Given the description of an element on the screen output the (x, y) to click on. 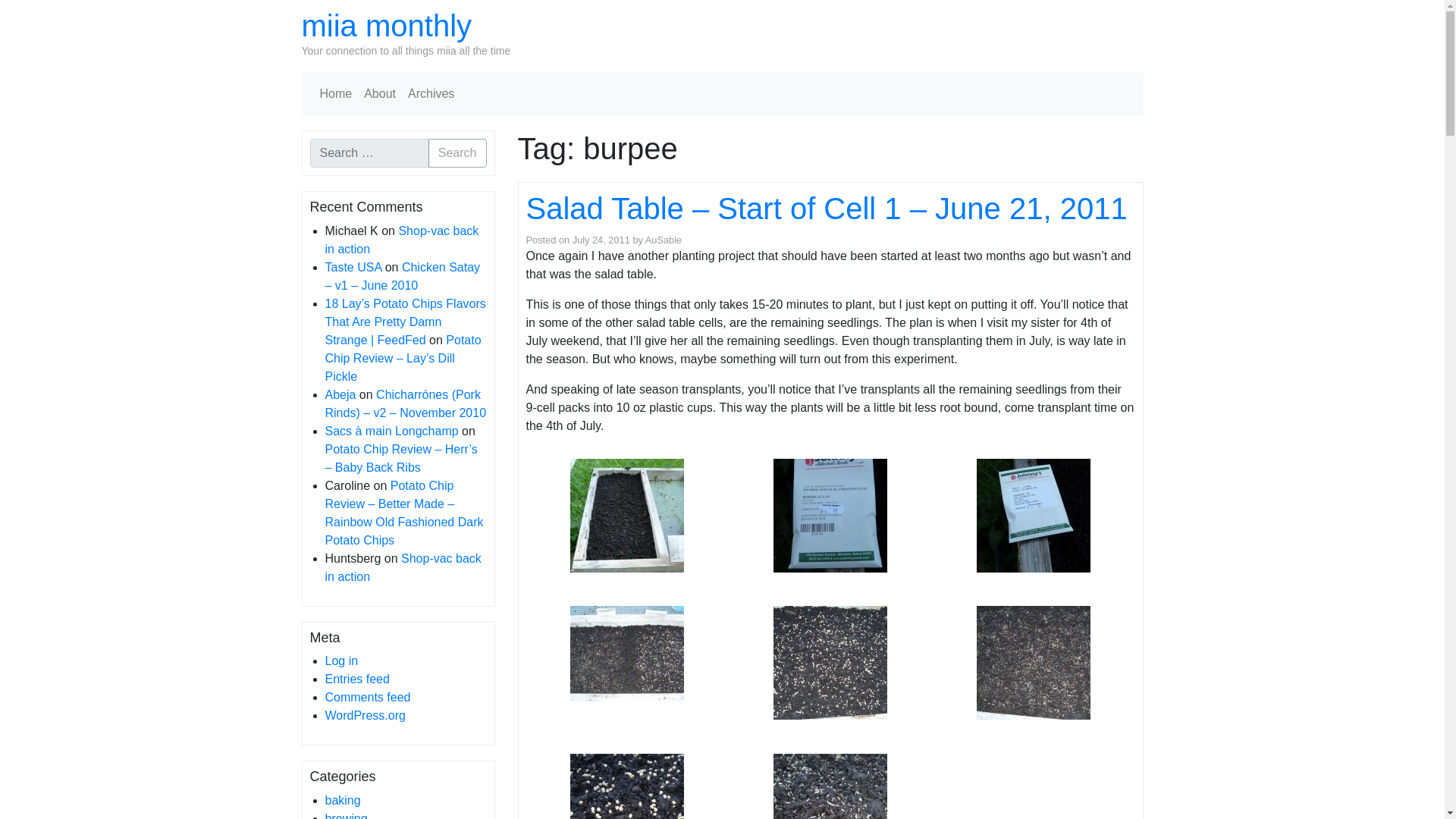
Comments feed (367, 697)
Shop-vac back in action (401, 239)
WordPress.org (364, 715)
Home (336, 93)
Abeja (339, 394)
baking (341, 799)
Log in (341, 660)
About (379, 93)
6:43 pm (601, 239)
brewing (345, 815)
Shop-vac back in action (402, 567)
Taste USA (352, 267)
View all posts by AuSable (663, 239)
Entries feed (356, 678)
miia monthly (386, 25)
